Given the description of an element on the screen output the (x, y) to click on. 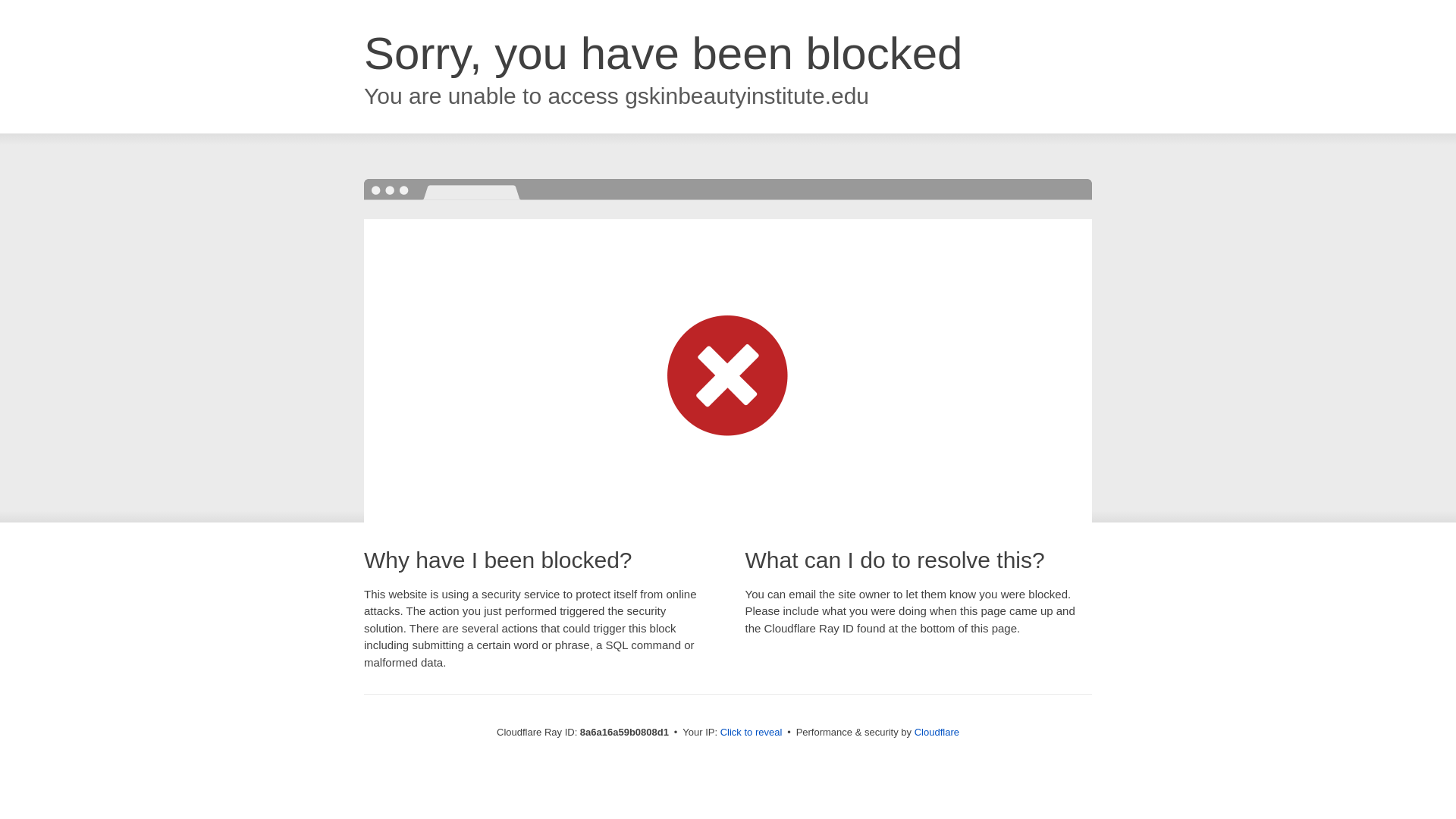
Click to reveal (751, 732)
Cloudflare (936, 731)
